Given the description of an element on the screen output the (x, y) to click on. 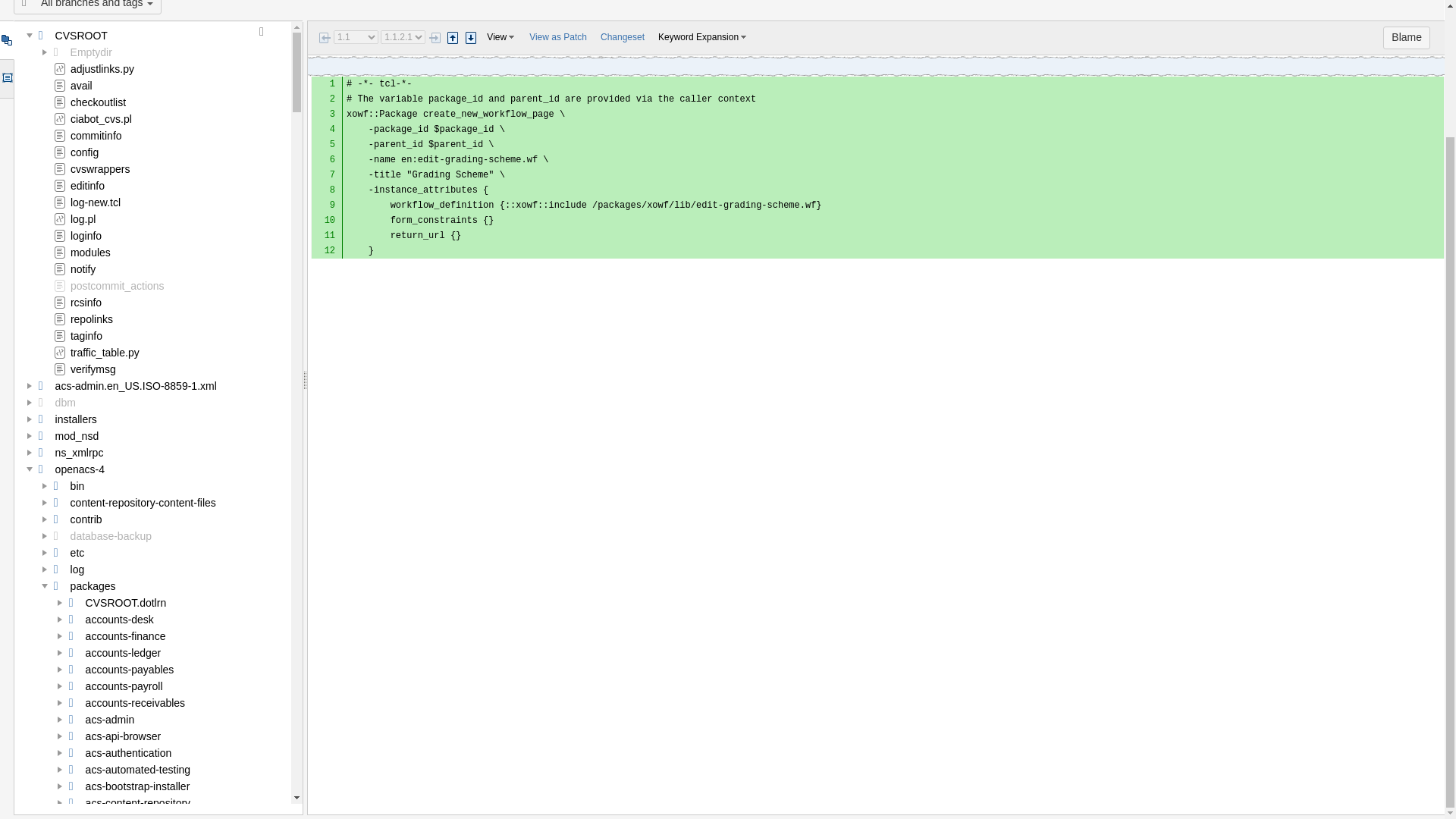
Branch All branches and tags (87, 7)
Previous Difference (452, 37)
Next Difference (470, 37)
More (273, 31)
CVSROOT (81, 35)
View next revision (434, 37)
View previous revision (324, 37)
Emptydir (90, 51)
